Given the description of an element on the screen output the (x, y) to click on. 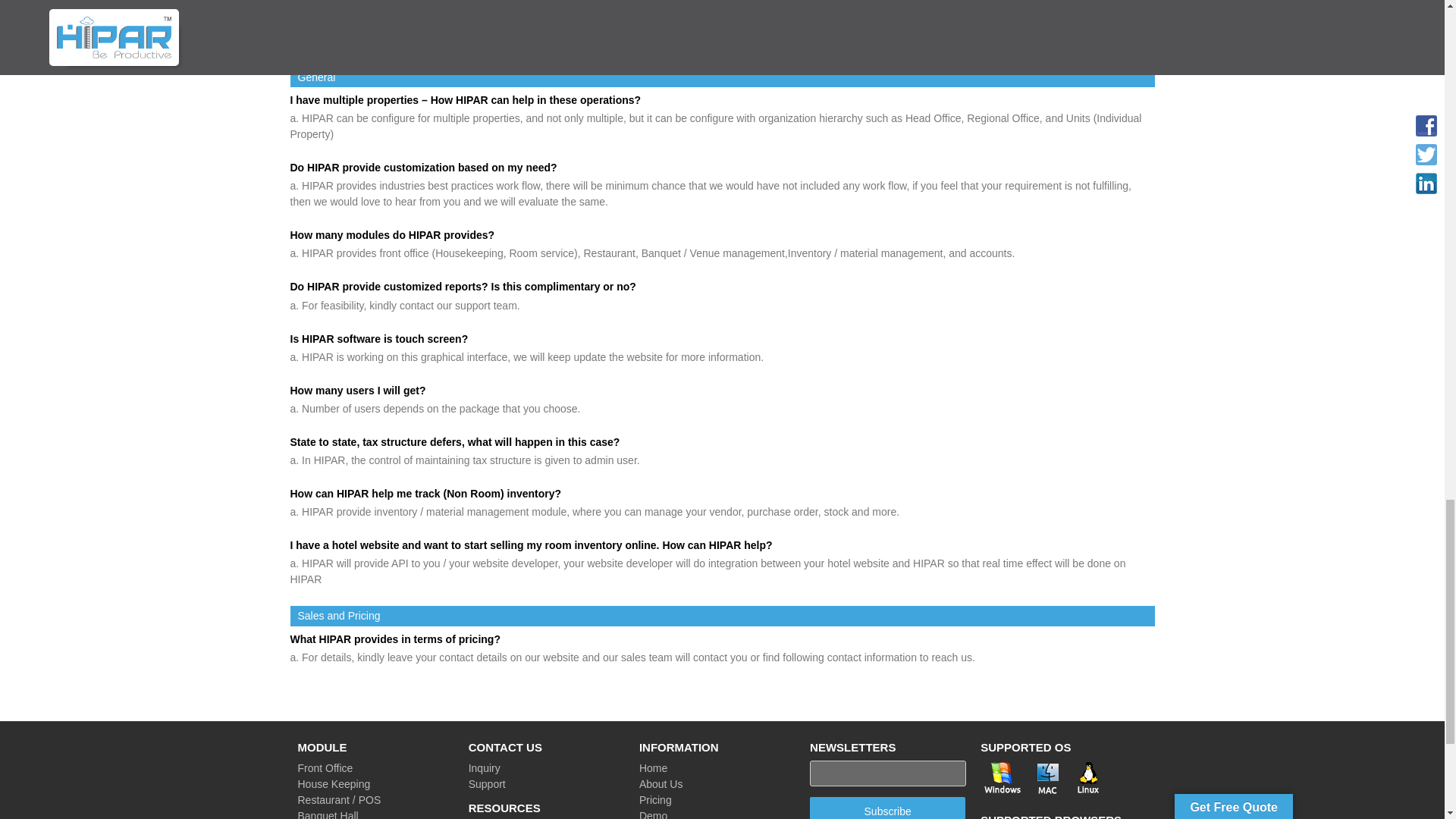
Banquet Hall (327, 814)
House Keeping (333, 784)
Subscribe (887, 807)
Inquiry (484, 767)
Support (486, 784)
Demo (652, 814)
Home (652, 767)
Front Office (324, 767)
About Us (660, 784)
Subscribe (887, 807)
